Given the description of an element on the screen output the (x, y) to click on. 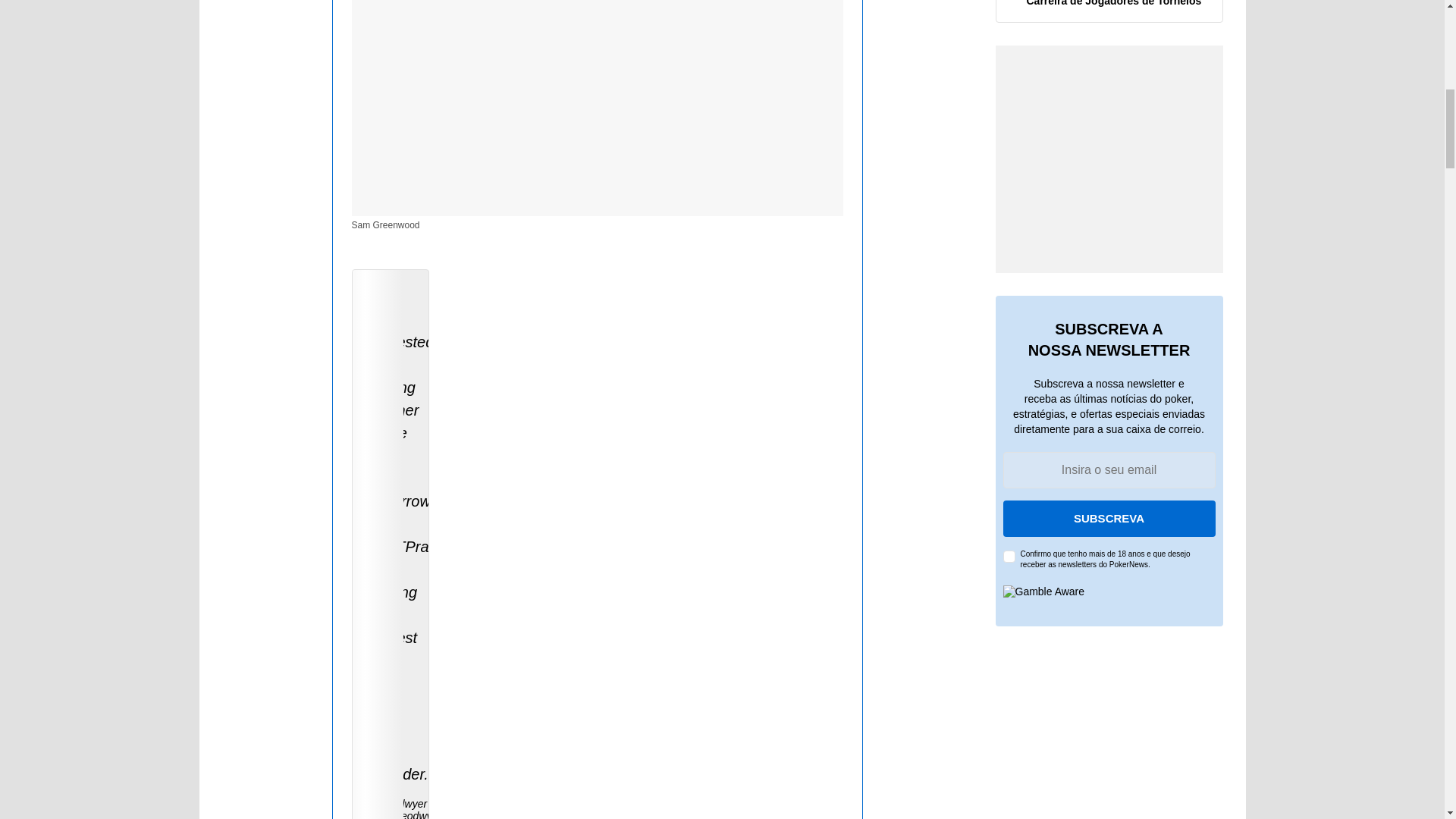
on (1008, 556)
